Given the description of an element on the screen output the (x, y) to click on. 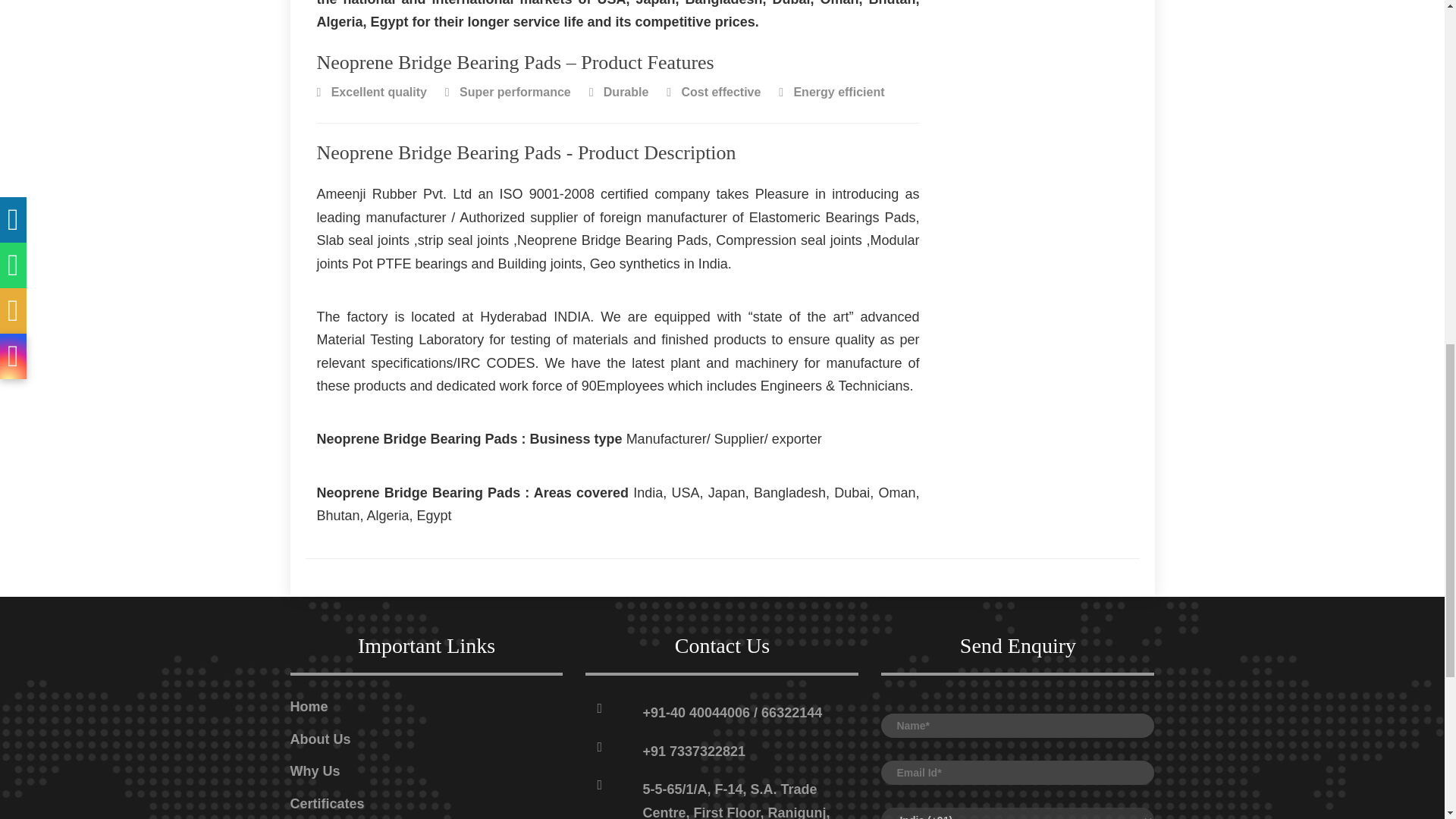
Enter valid Name, Max characters allowed are 30 (1017, 725)
